Given the description of an element on the screen output the (x, y) to click on. 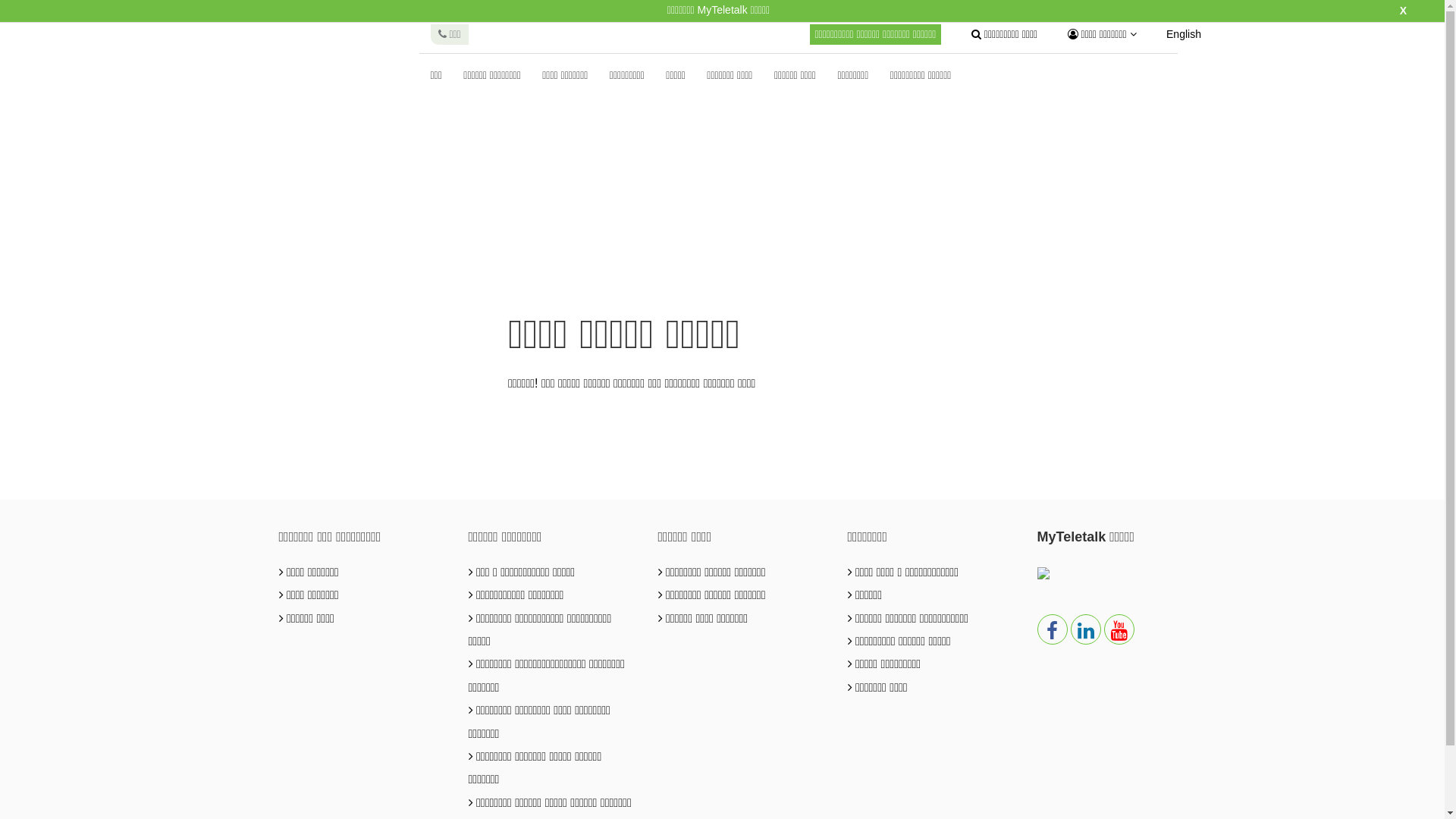
English Element type: text (1183, 34)
